Given the description of an element on the screen output the (x, y) to click on. 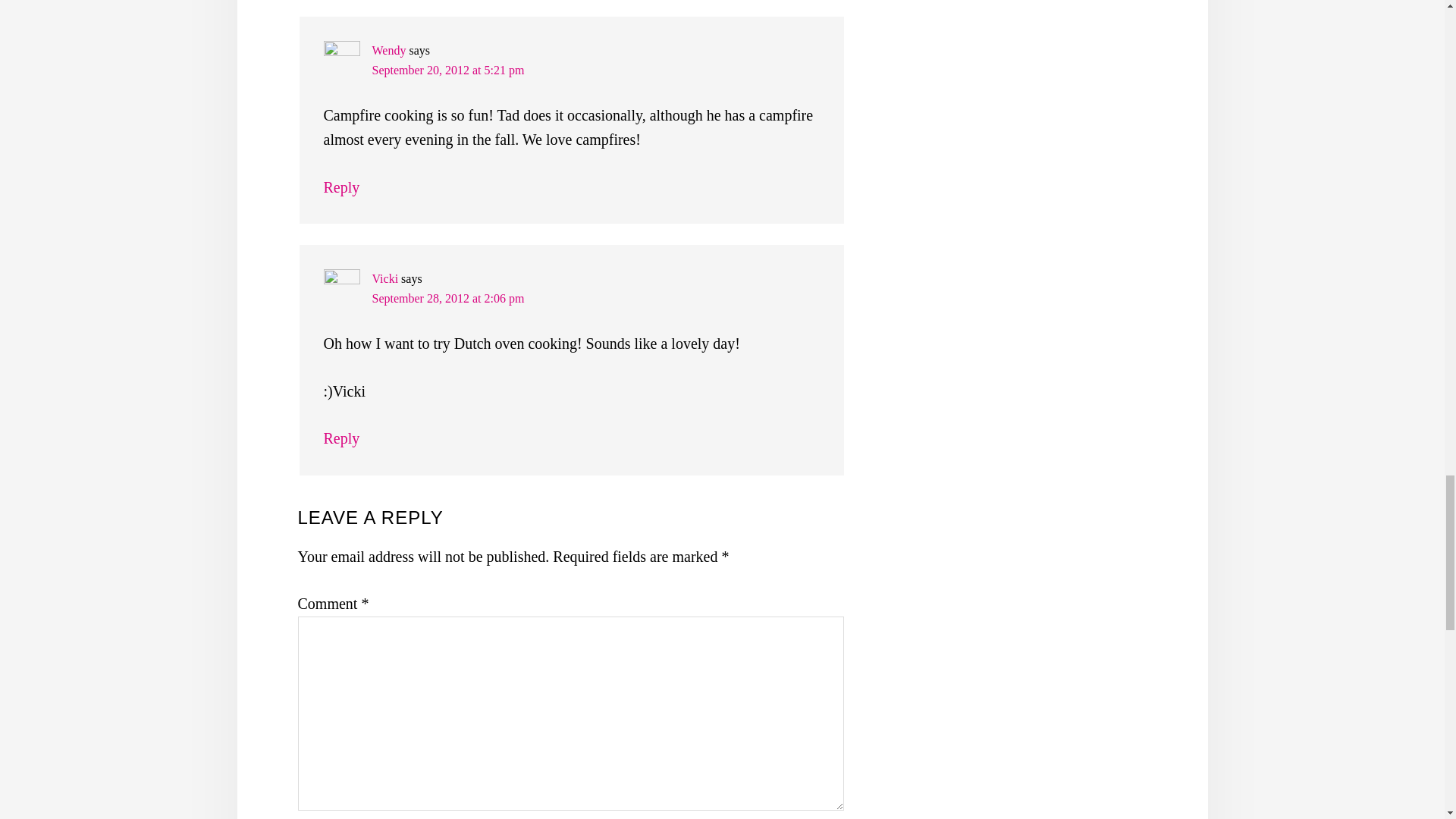
September 20, 2012 at 5:21 pm (447, 69)
Reply (341, 187)
September 28, 2012 at 2:06 pm (447, 297)
Wendy (388, 50)
Vicki (384, 278)
Reply (341, 437)
